Given the description of an element on the screen output the (x, y) to click on. 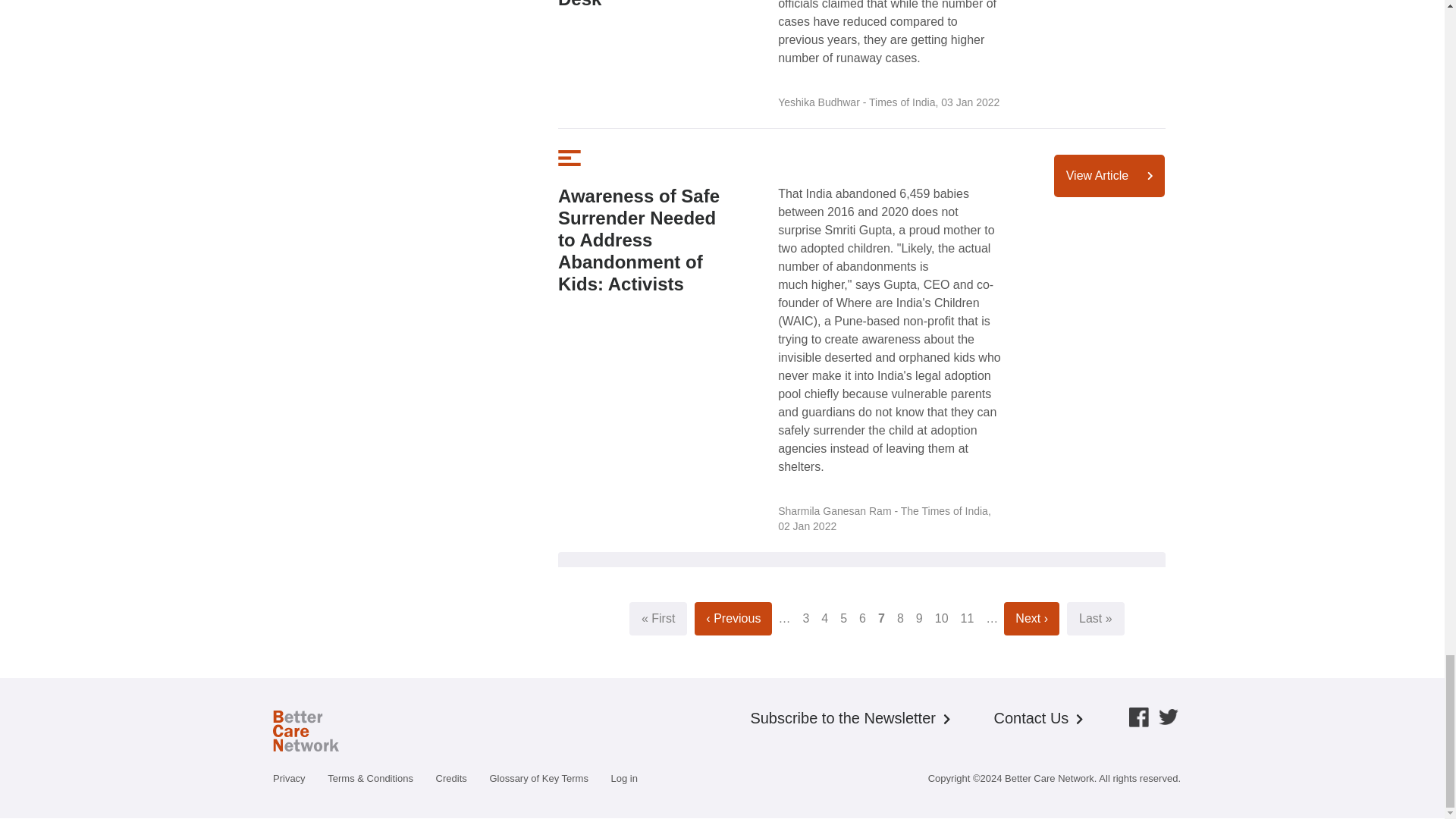
Go to page 10 (941, 617)
Go to next page (1031, 617)
Go to first page (658, 617)
Go to last page (1095, 617)
Go to page 11 (967, 617)
Go to previous page (733, 617)
